Given the description of an element on the screen output the (x, y) to click on. 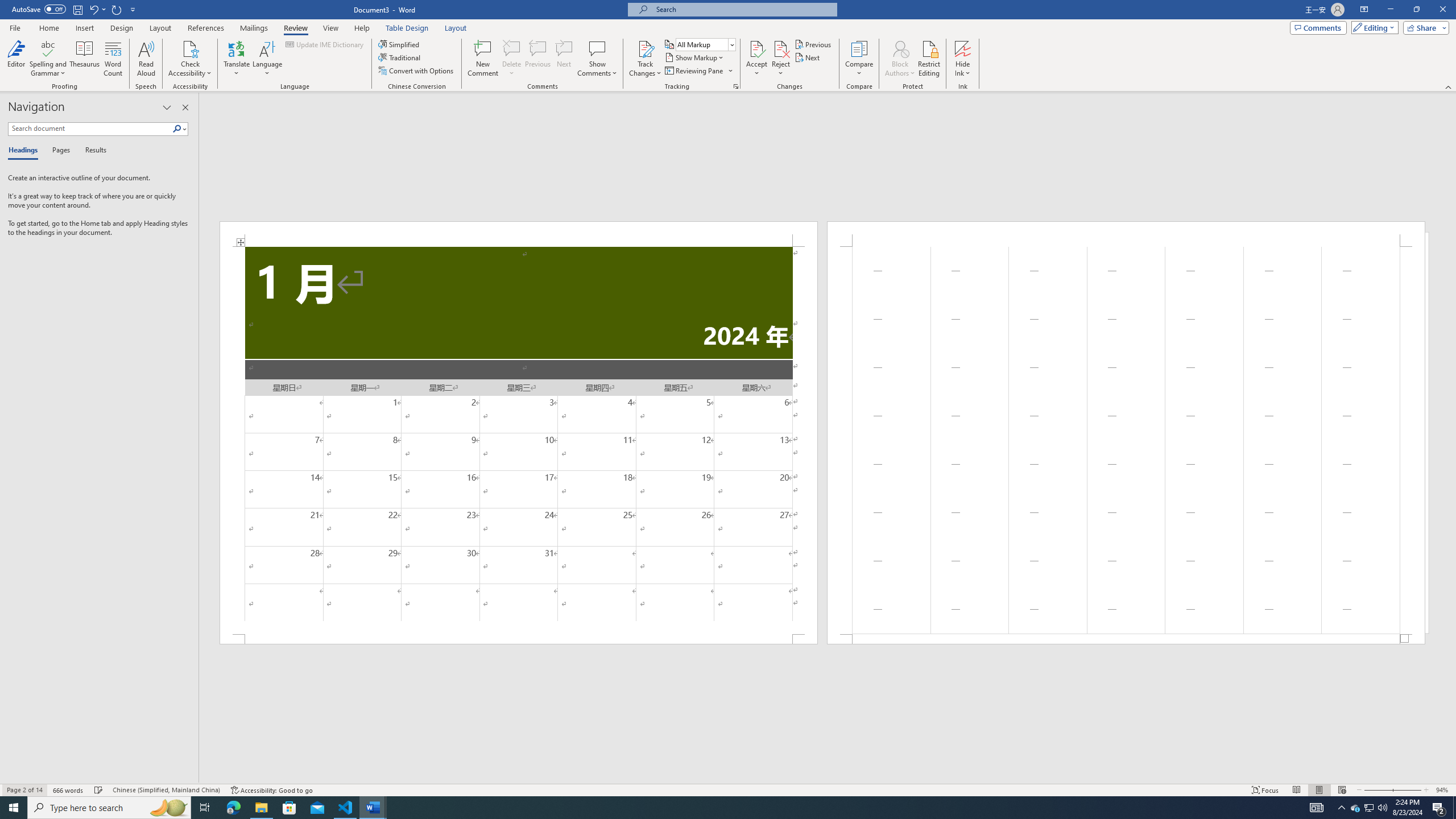
New Comment (482, 58)
Read Aloud (145, 58)
Page 1 content (518, 439)
Delete (511, 48)
Spelling and Grammar (48, 58)
Display for Review (705, 44)
Track Changes (644, 58)
Accept and Move to Next (756, 48)
Check Accessibility (189, 48)
